Given the description of an element on the screen output the (x, y) to click on. 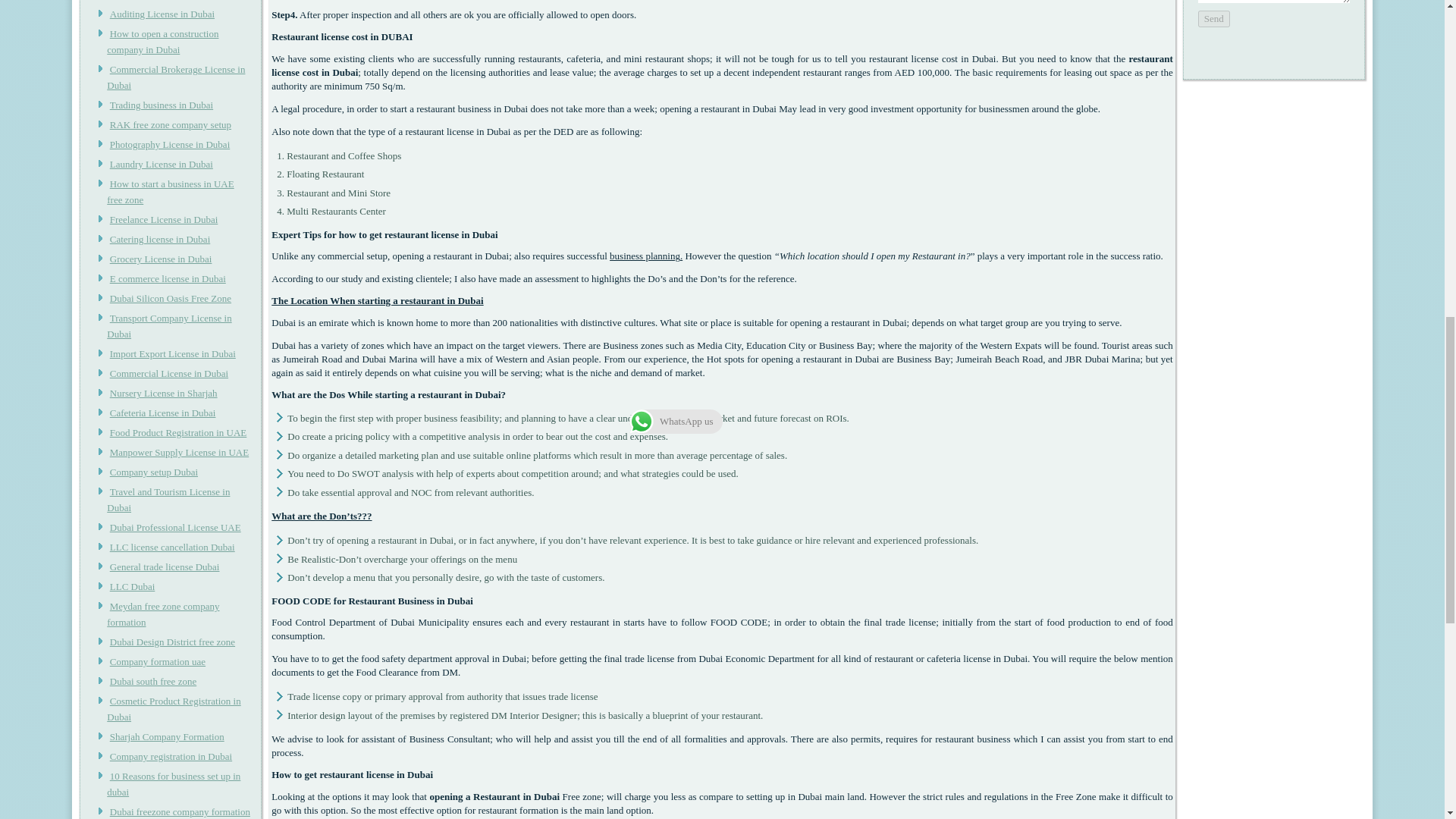
Send (1214, 18)
